Given the description of an element on the screen output the (x, y) to click on. 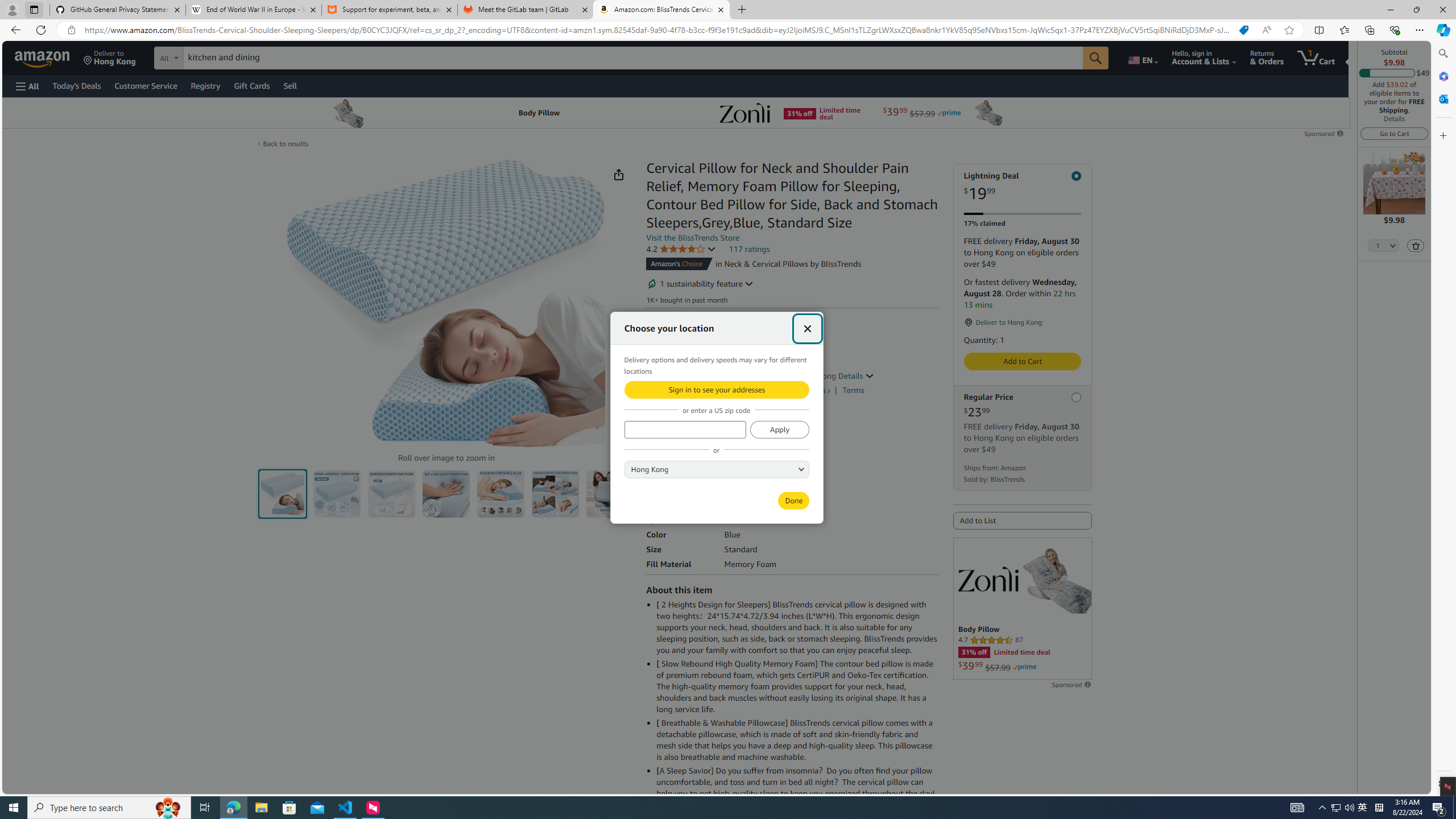
Pink (711, 433)
Add to List (1022, 520)
You have the best price! (1243, 29)
Apply 20% coupon Shop items | Terms (696, 387)
Deliver to Hong Kong (109, 57)
End of World War II in Europe - Wikipedia (253, 9)
Details  (855, 375)
